Given the description of an element on the screen output the (x, y) to click on. 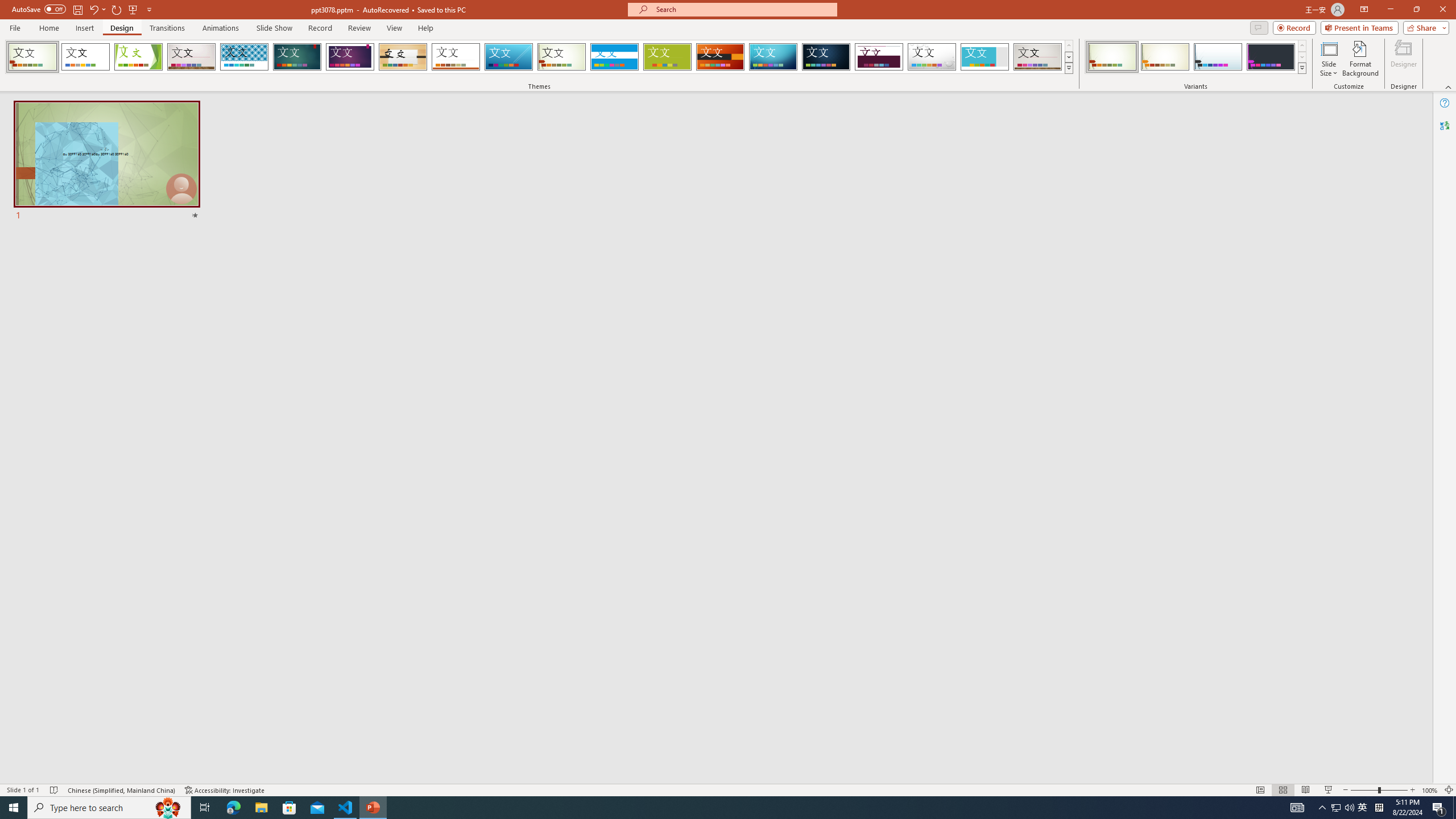
Slide (106, 161)
Droplet (931, 56)
Berlin (720, 56)
